Given the description of an element on the screen output the (x, y) to click on. 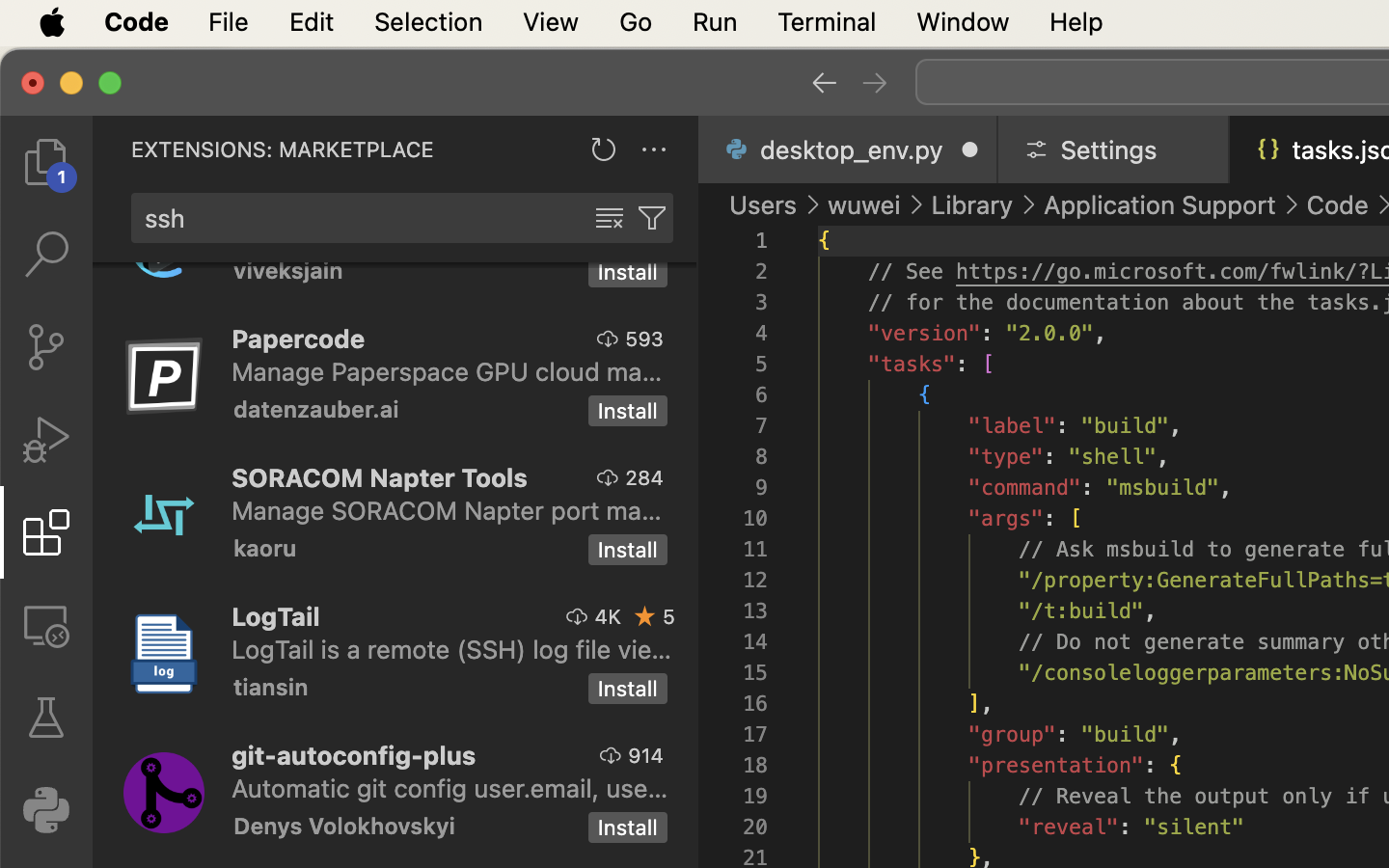
LogTail Element type: AXStaticText (275, 615)
Manage Paperspace GPU cloud machines directly from VS Code. Open with just one click a remote VS Code session, streamlining your machine learning & data science process and increasing productivity. Element type: AXStaticText (447, 370)
Code Element type: AXGroup (1337, 204)
 Element type: AXButton (609, 217)
4K Element type: AXStaticText (607, 615)
